Given the description of an element on the screen output the (x, y) to click on. 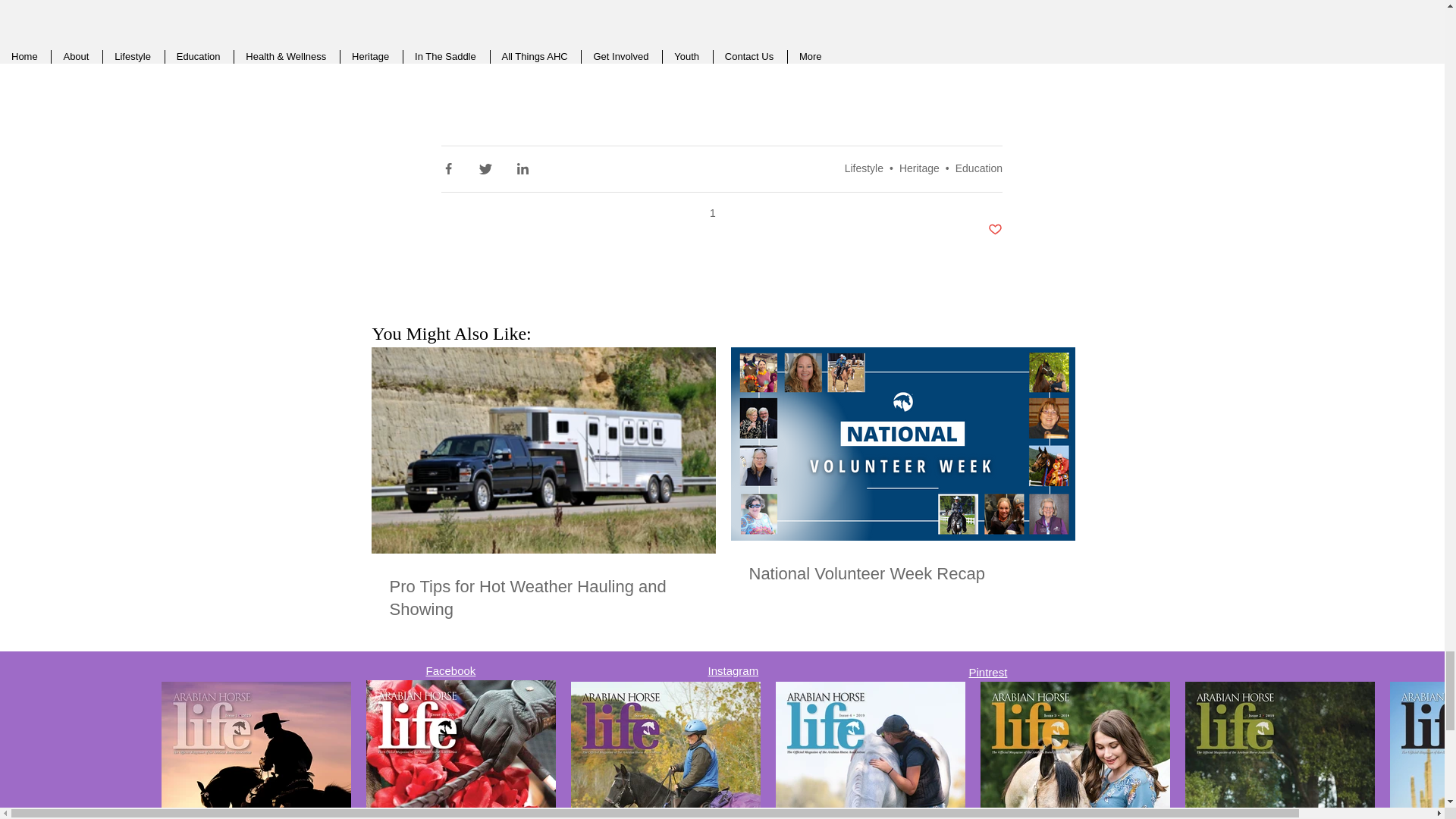
Heritage (919, 168)
Pro Tips for Hot Weather Hauling and Showing (543, 597)
Lifestyle (714, 213)
Education (863, 168)
National Volunteer Week Recap (979, 168)
